Given the description of an element on the screen output the (x, y) to click on. 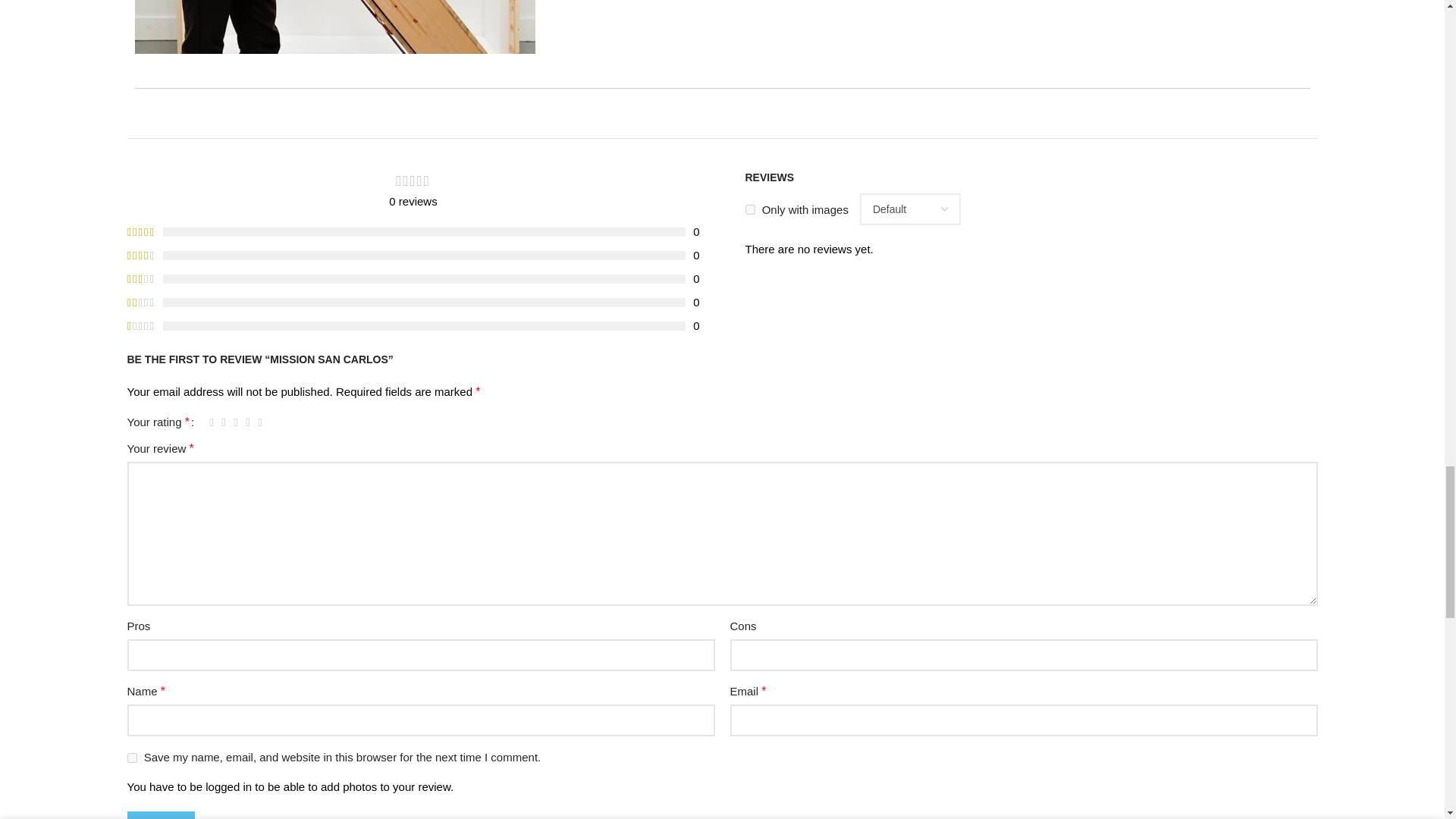
on (749, 209)
Submit (161, 815)
yes (132, 757)
